Given the description of an element on the screen output the (x, y) to click on. 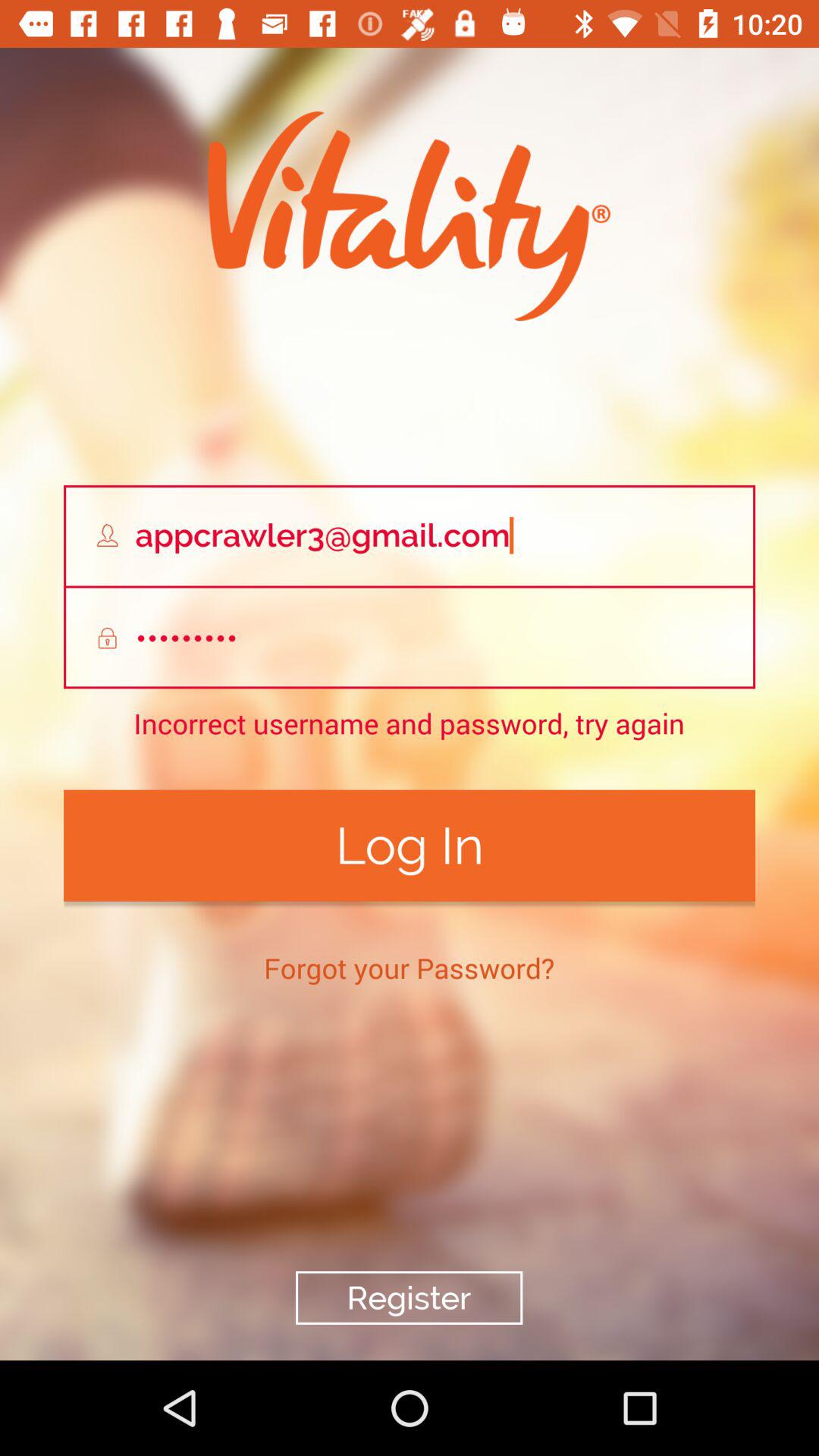
jump to forgot your password? (408, 967)
